Given the description of an element on the screen output the (x, y) to click on. 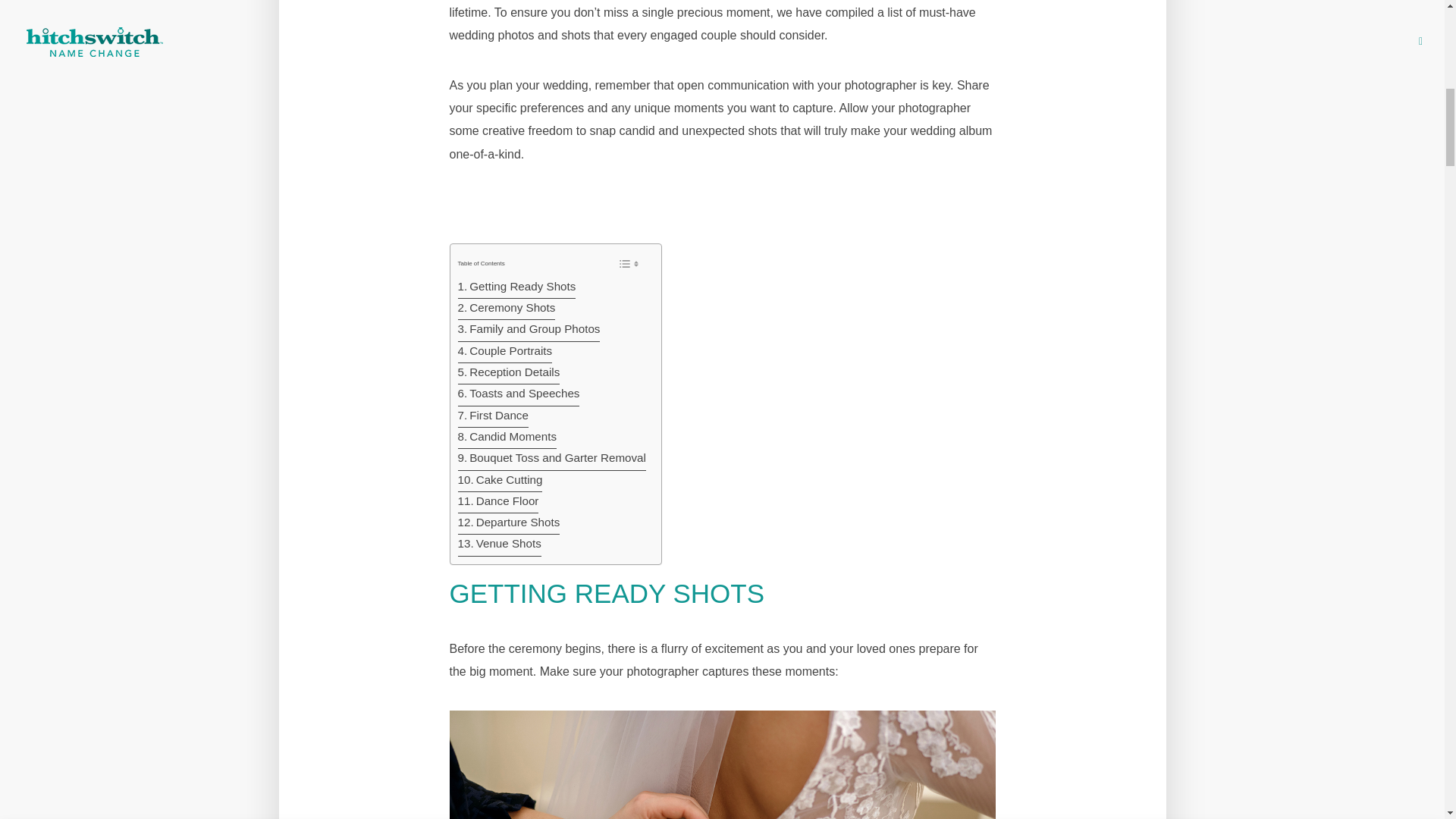
Venue Shots (499, 545)
Family and Group Photos (528, 330)
Toasts and Speeches (518, 394)
Candid Moments (507, 437)
Dance Floor (498, 502)
Bouquet Toss and Garter Removal (552, 459)
First Dance (493, 416)
Getting Ready Shots (517, 287)
Bouquet Toss and Garter Removal (552, 459)
First Dance (493, 416)
Candid Moments (507, 437)
Family and Group Photos (528, 330)
Ceremony Shots (507, 309)
Couple Portraits (505, 352)
Venue Shots (499, 545)
